Given the description of an element on the screen output the (x, y) to click on. 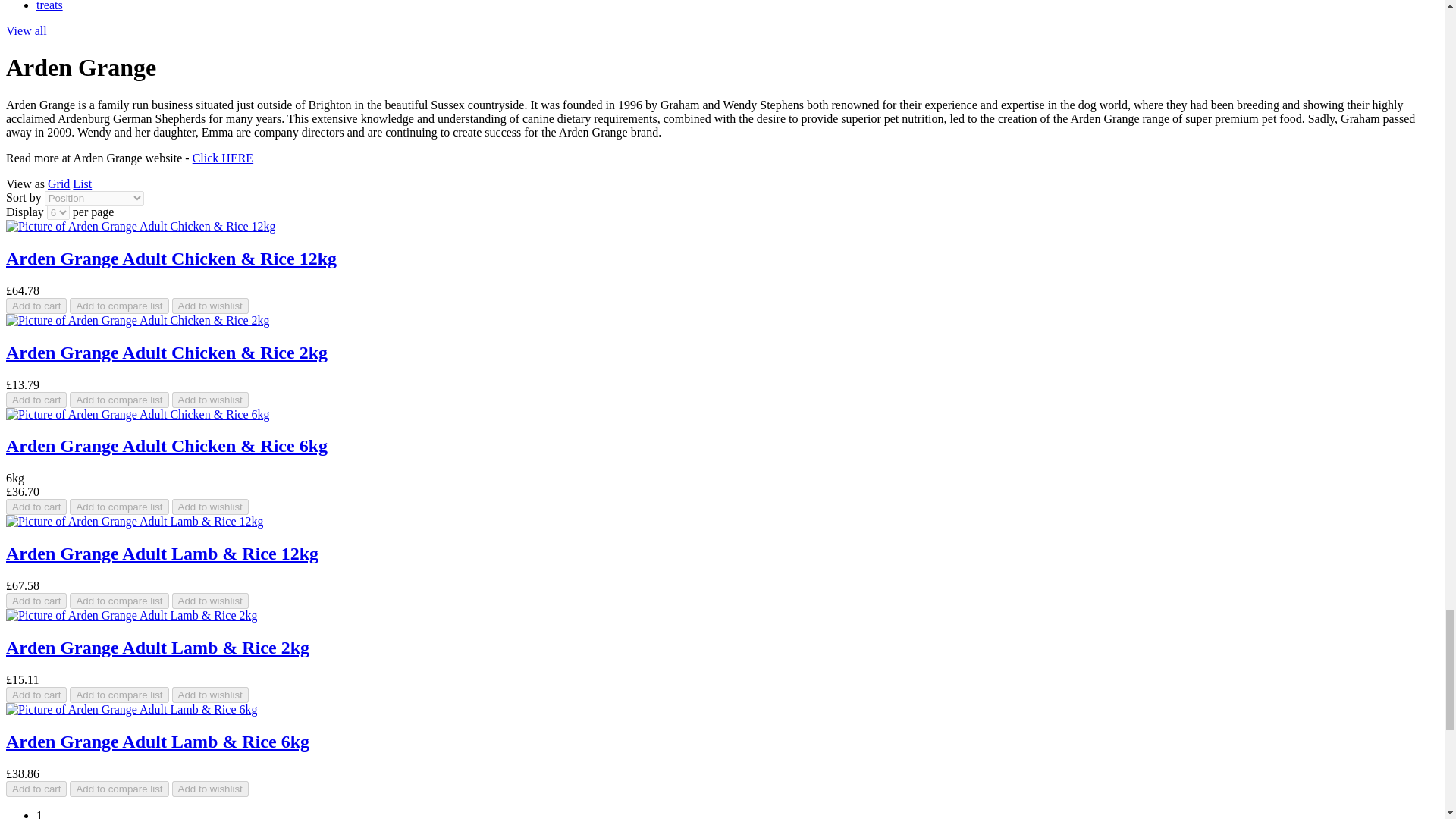
Add to compare list (118, 788)
Add to wishlist (209, 305)
Add to wishlist (209, 506)
Add to cart (35, 600)
Add to compare list (118, 506)
Add to wishlist (209, 600)
Add to compare list (118, 694)
Add to compare list (118, 305)
Add to wishlist (209, 506)
Add to compare list (118, 305)
